Given the description of an element on the screen output the (x, y) to click on. 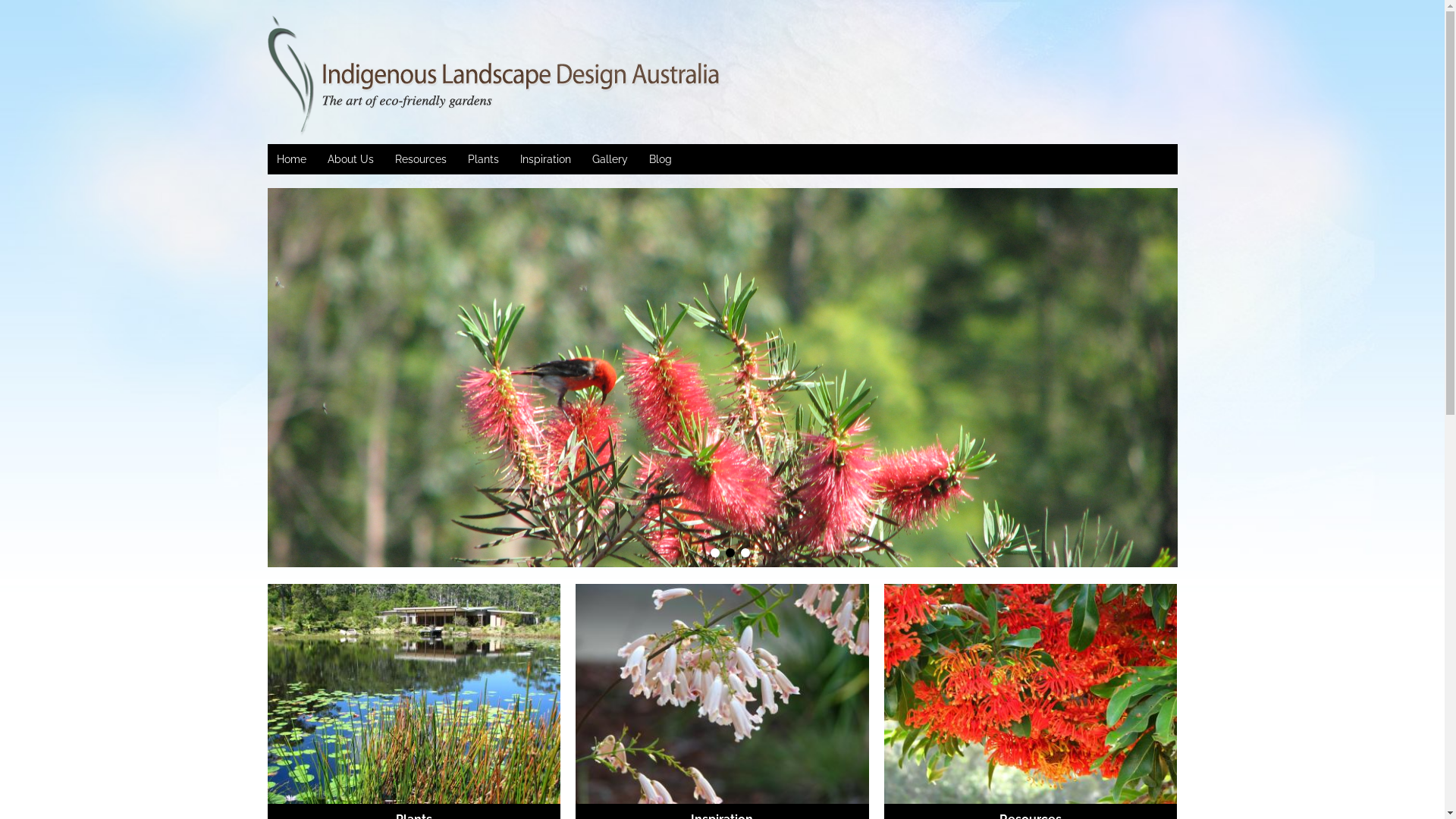
Gallery Element type: text (609, 159)
About Us Element type: text (350, 159)
Plants Element type: text (482, 159)
Inspiration Element type: text (545, 159)
Blog Element type: text (660, 159)
Home Element type: text (290, 159)
Resources Element type: text (420, 159)
Indigenous Landscape Design Australia Element type: hover (380, 75)
